Given the description of an element on the screen output the (x, y) to click on. 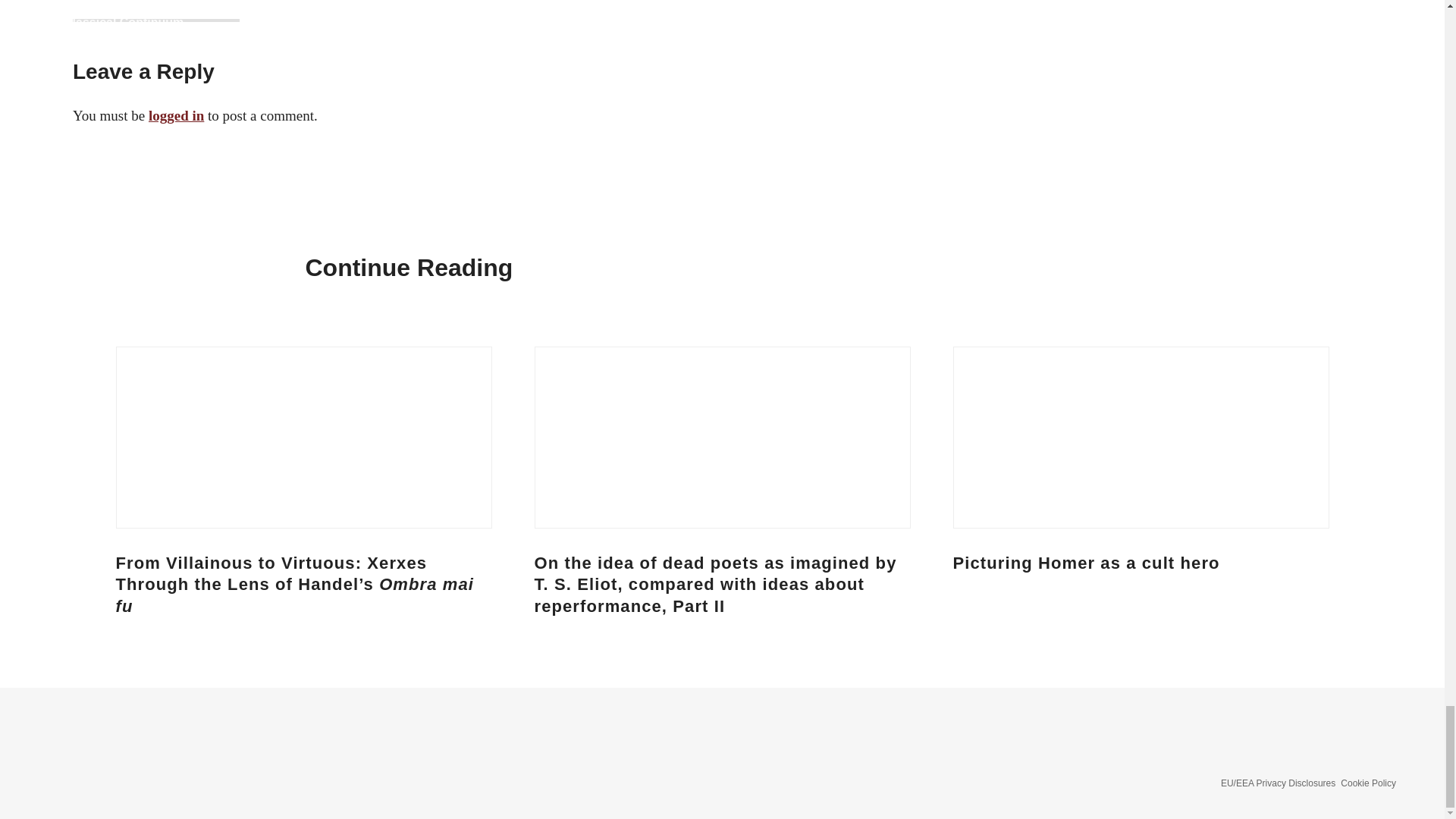
logged in (175, 115)
Picturing Homer as a cult hero (1086, 562)
